Given the description of an element on the screen output the (x, y) to click on. 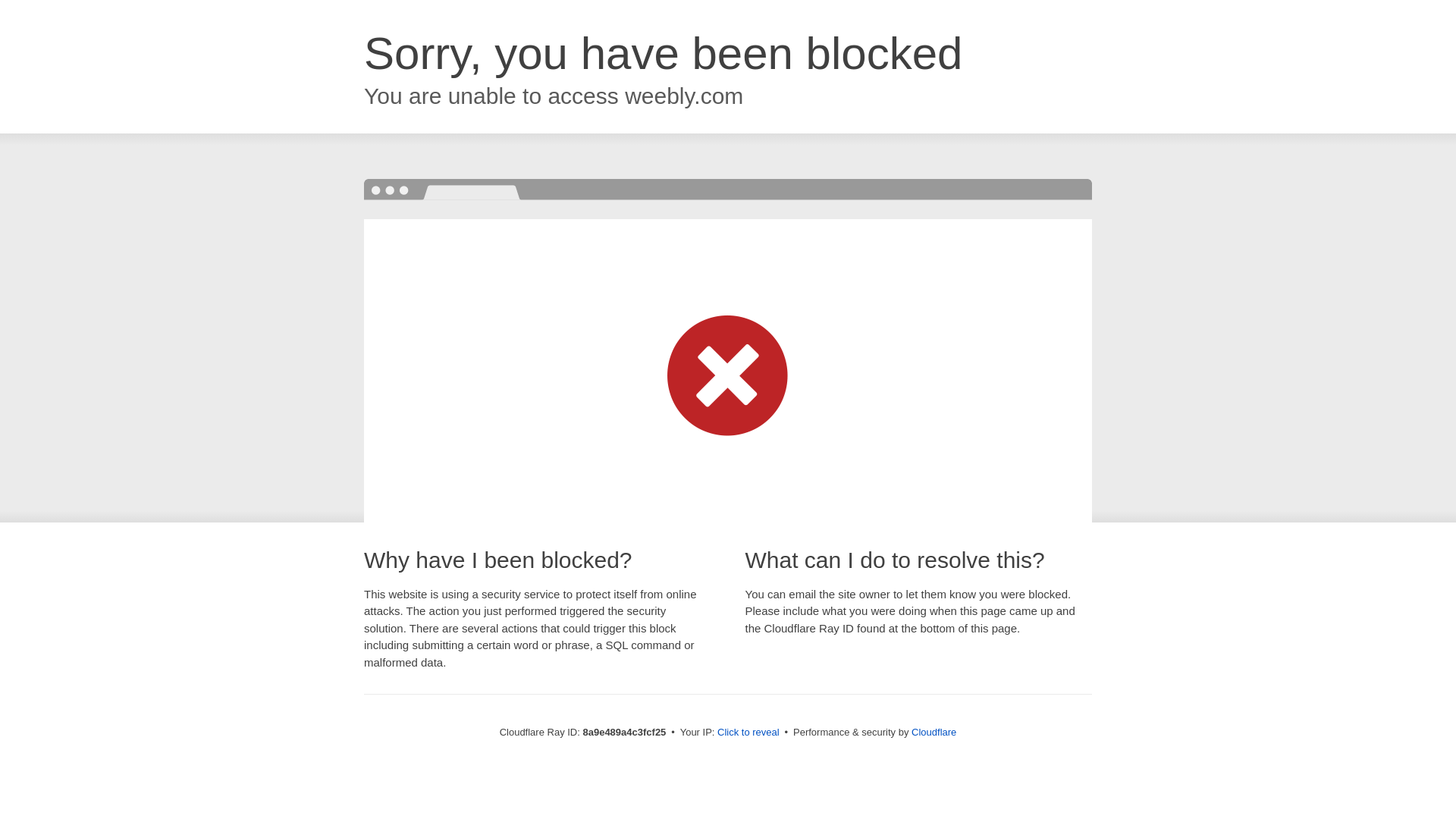
Cloudflare (933, 731)
Click to reveal (747, 732)
